Given the description of an element on the screen output the (x, y) to click on. 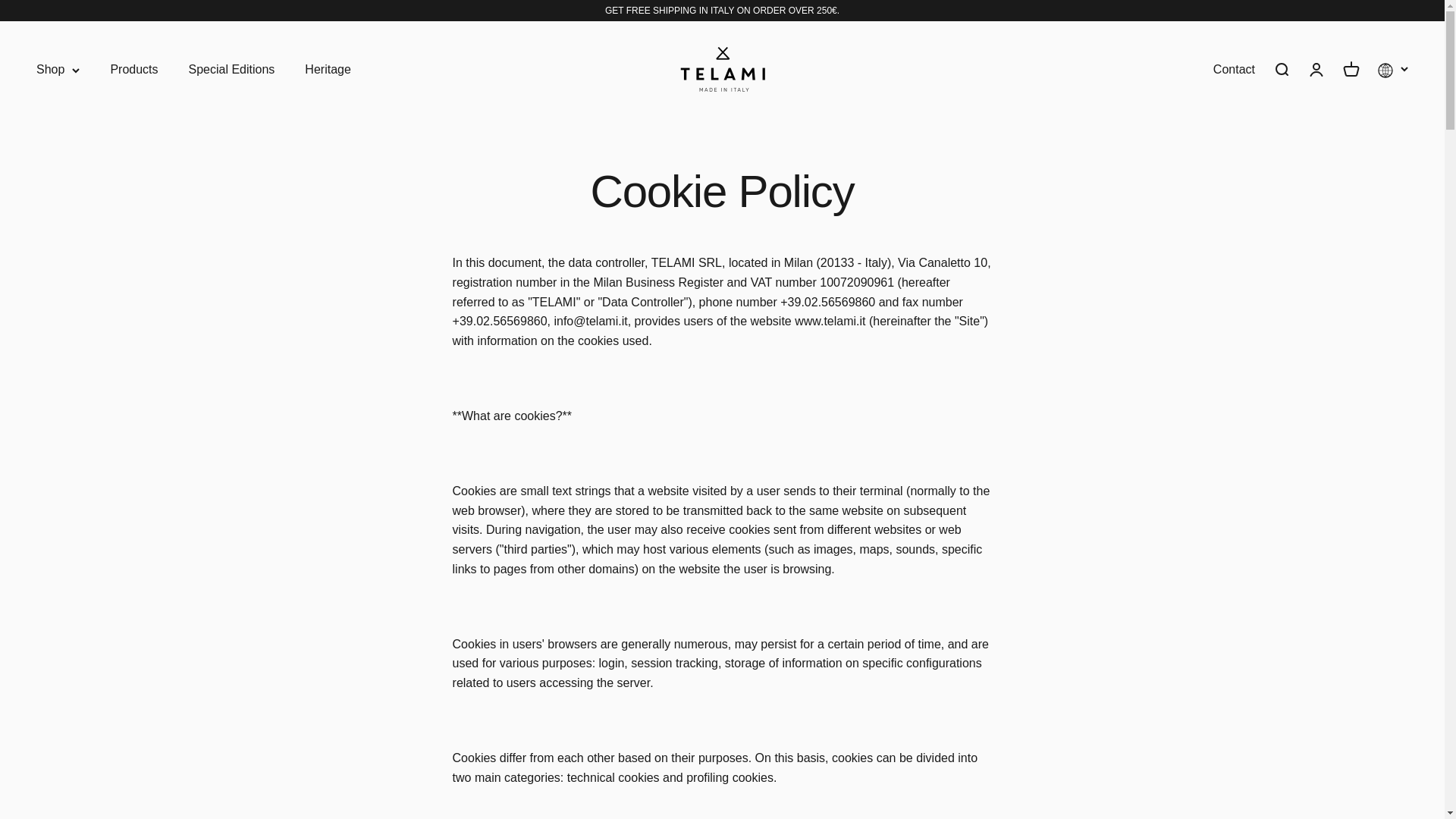
Heritage (327, 69)
Special Editions (232, 69)
Contact (1233, 69)
Products (133, 69)
Telami.it (722, 69)
